Given the description of an element on the screen output the (x, y) to click on. 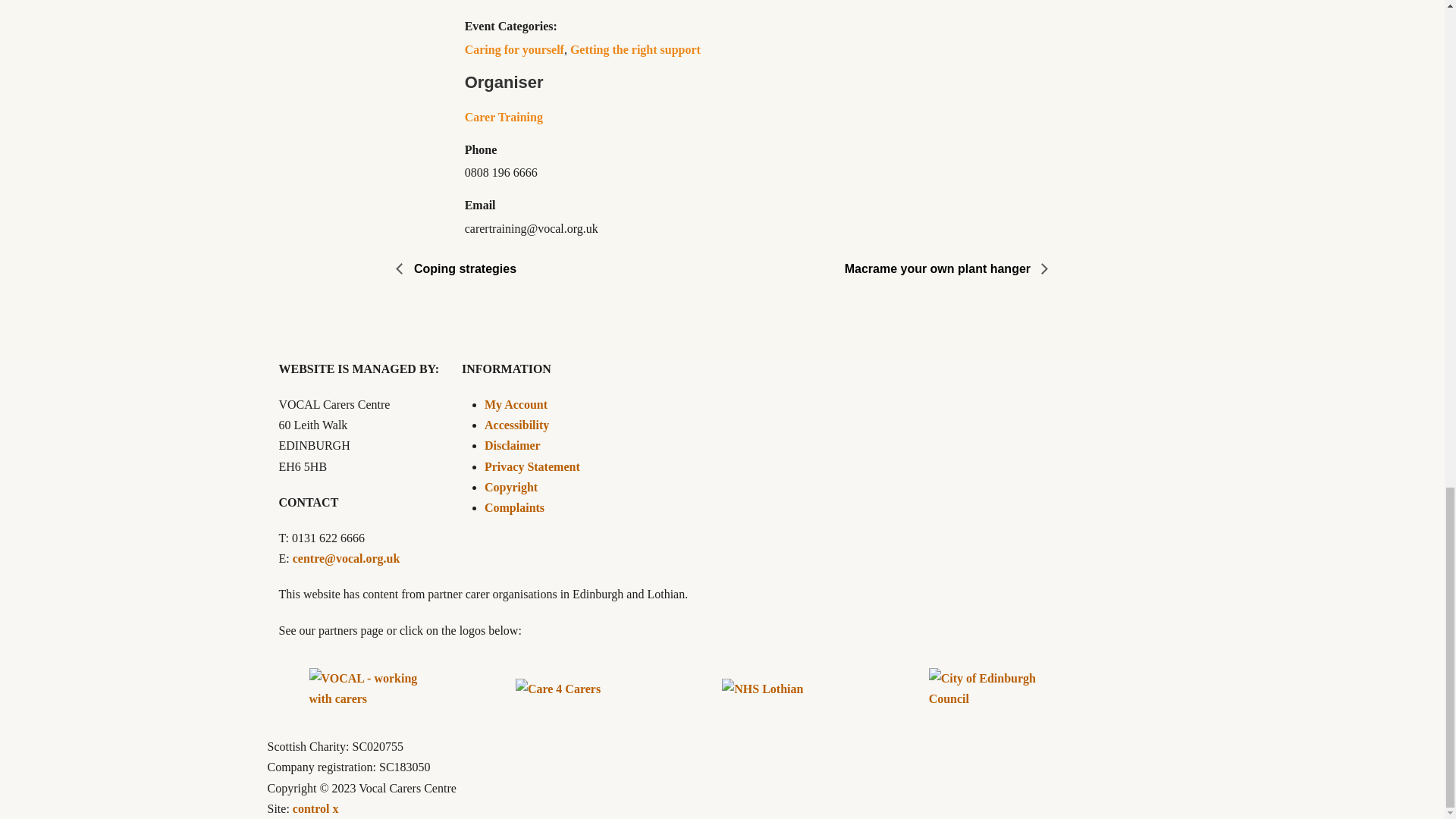
Macrame your own plant hanger (892, 268)
Privacy Statement (531, 466)
Getting the right support (635, 49)
Caring for yourself (514, 49)
Carer Training (503, 116)
Disclaimer (512, 445)
Coping strategies (551, 268)
Accessibility (516, 424)
Carer Training (503, 116)
My Account (515, 404)
